Given the description of an element on the screen output the (x, y) to click on. 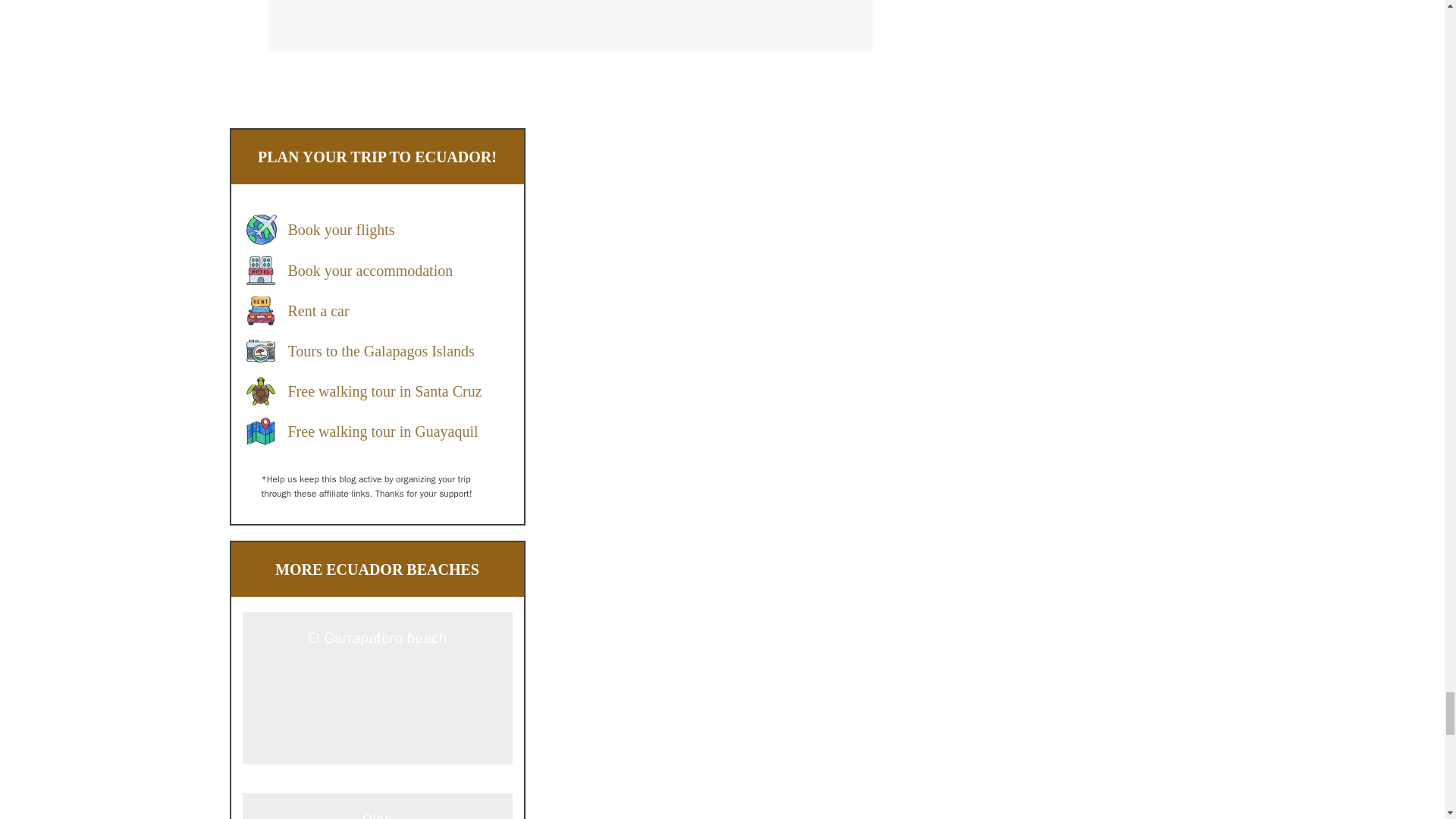
El Garrapatero beach (377, 781)
